Given the description of an element on the screen output the (x, y) to click on. 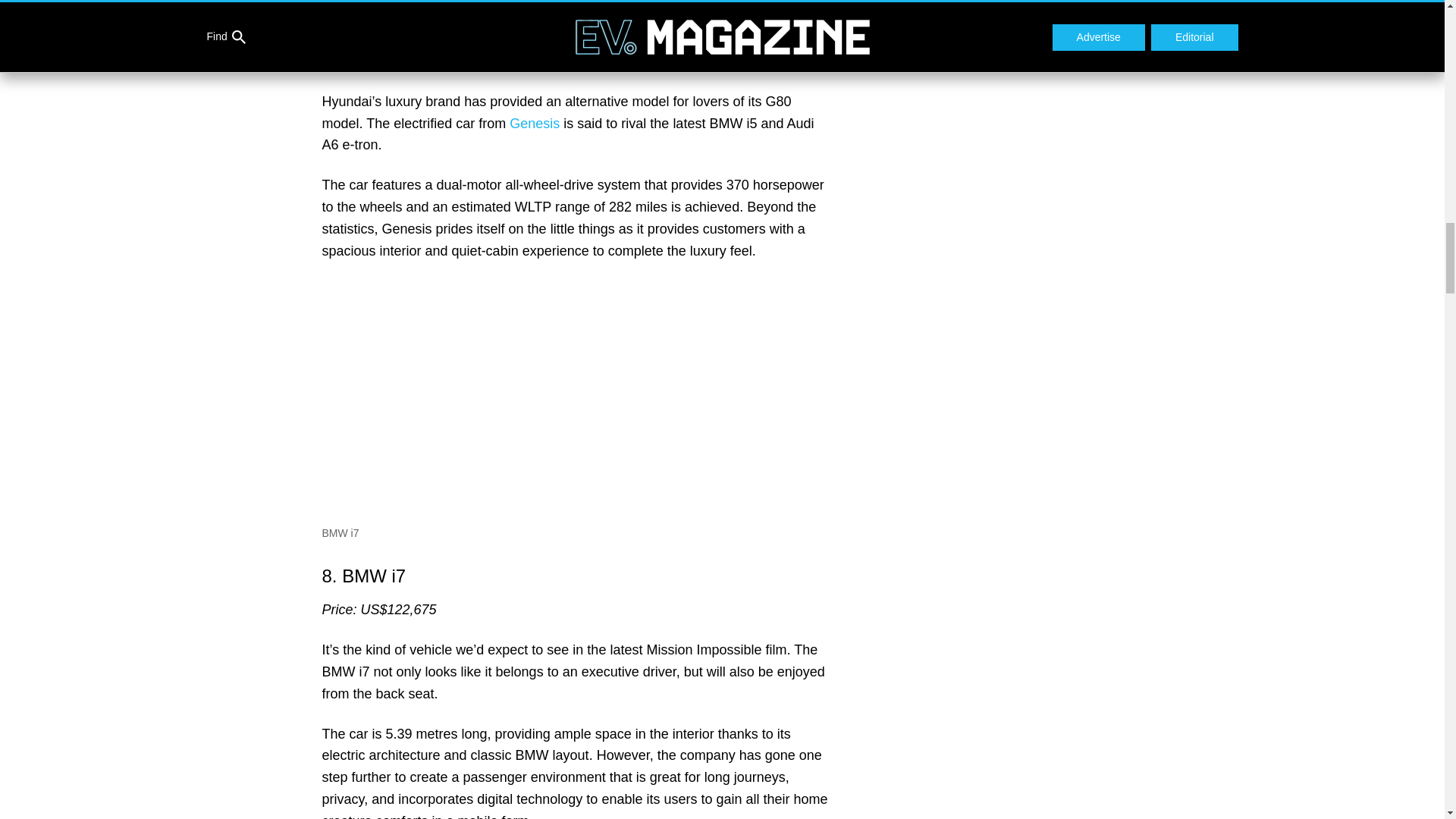
Genesis (534, 123)
